Given the description of an element on the screen output the (x, y) to click on. 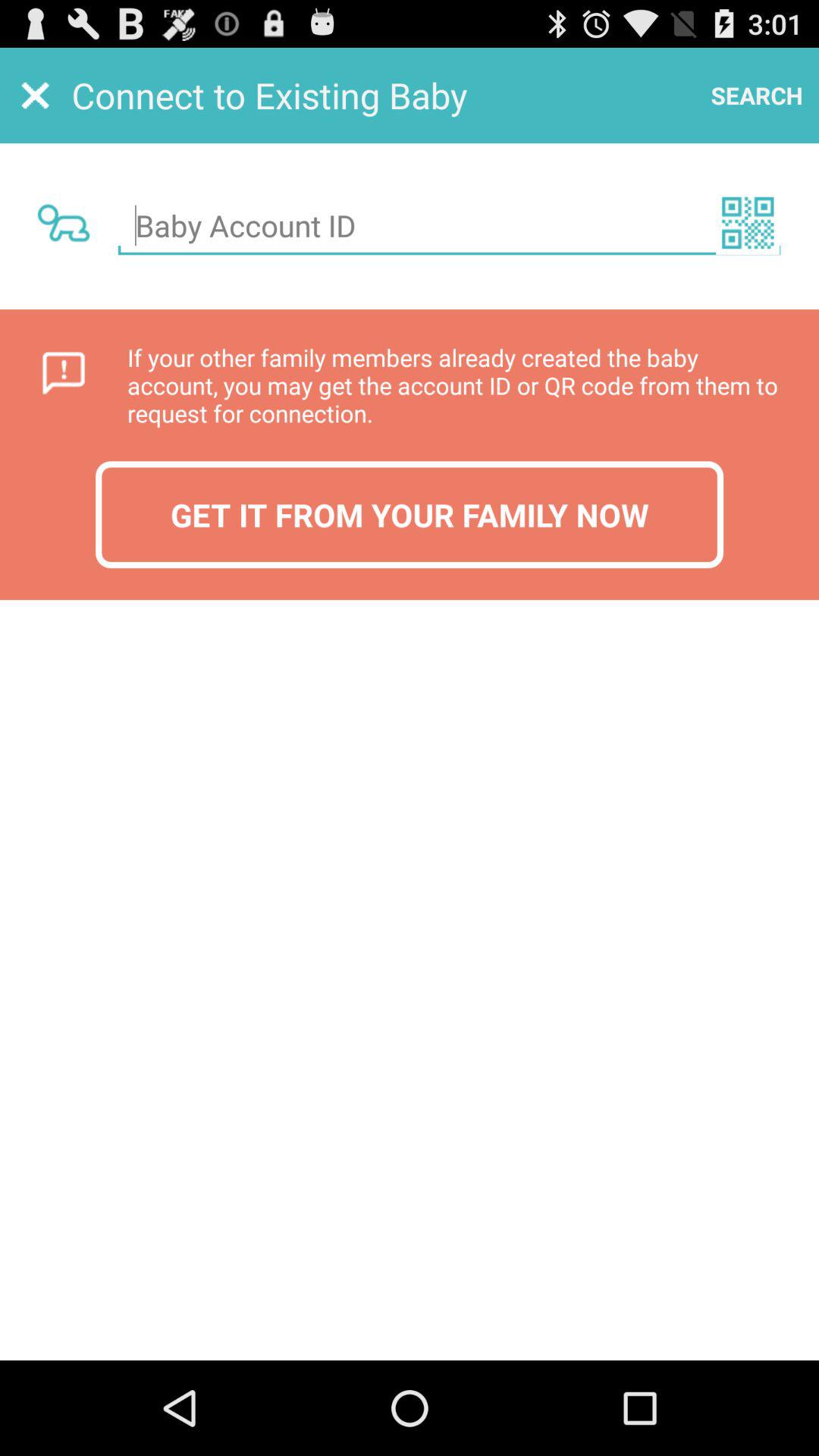
flip until the search item (757, 95)
